Given the description of an element on the screen output the (x, y) to click on. 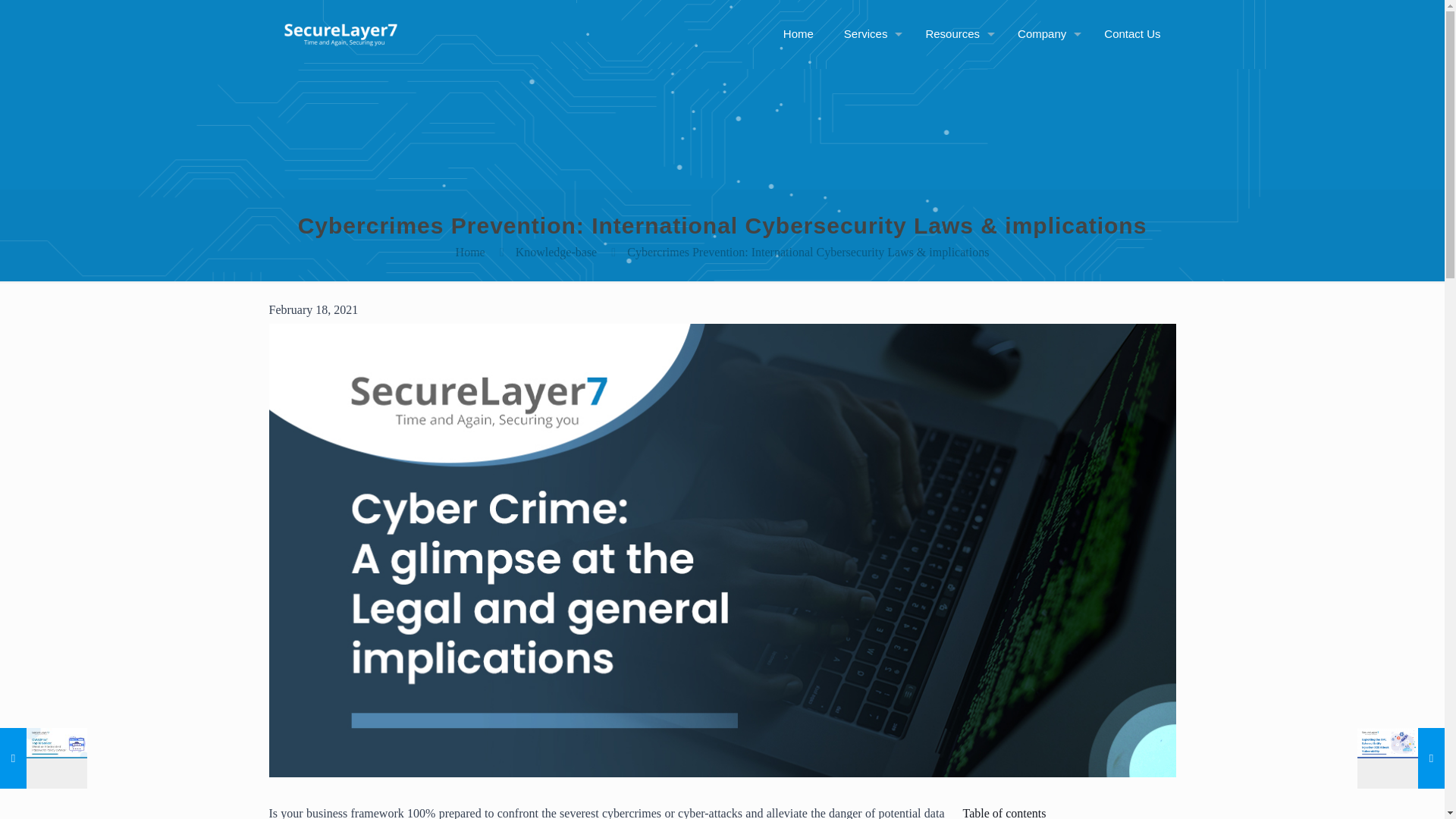
Resources (956, 33)
Home (798, 33)
Company (1046, 33)
Services (869, 33)
